Given the description of an element on the screen output the (x, y) to click on. 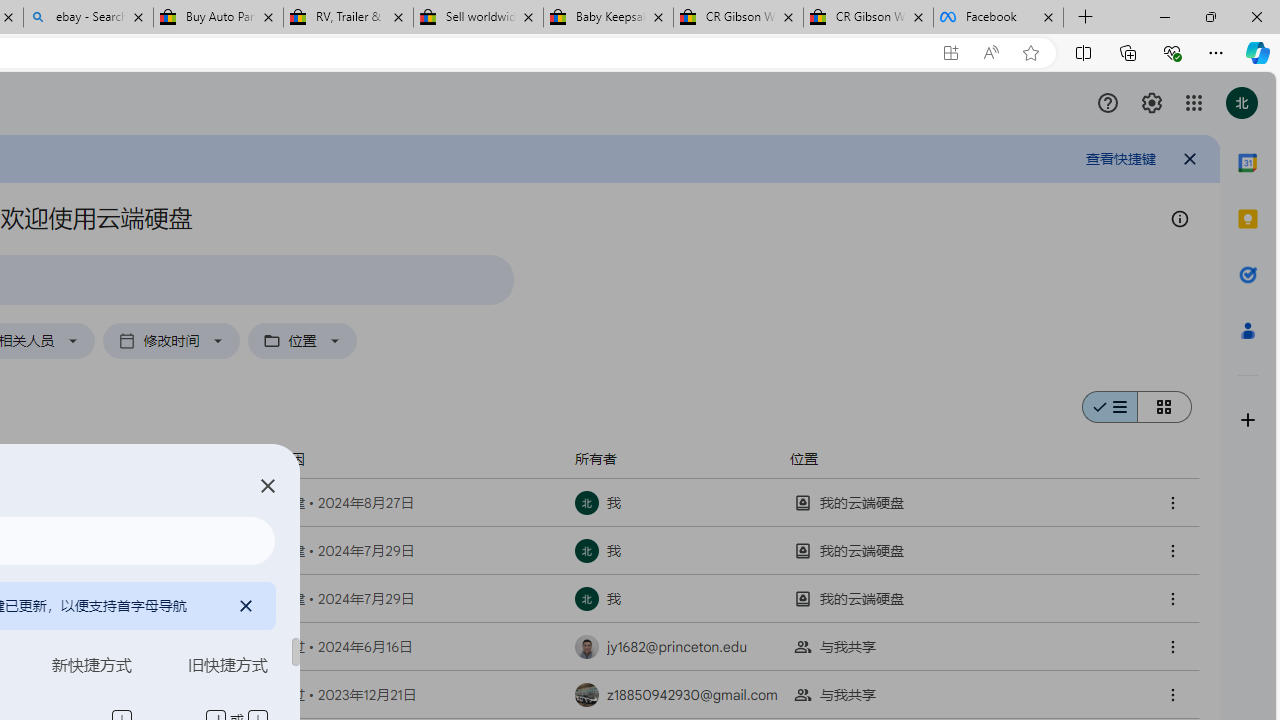
Facebook (998, 17)
RV, Trailer & Camper Steps & Ladders for sale | eBay (348, 17)
Baby Keepsakes & Announcements for sale | eBay (608, 17)
Sell worldwide with eBay (477, 17)
